Given the description of an element on the screen output the (x, y) to click on. 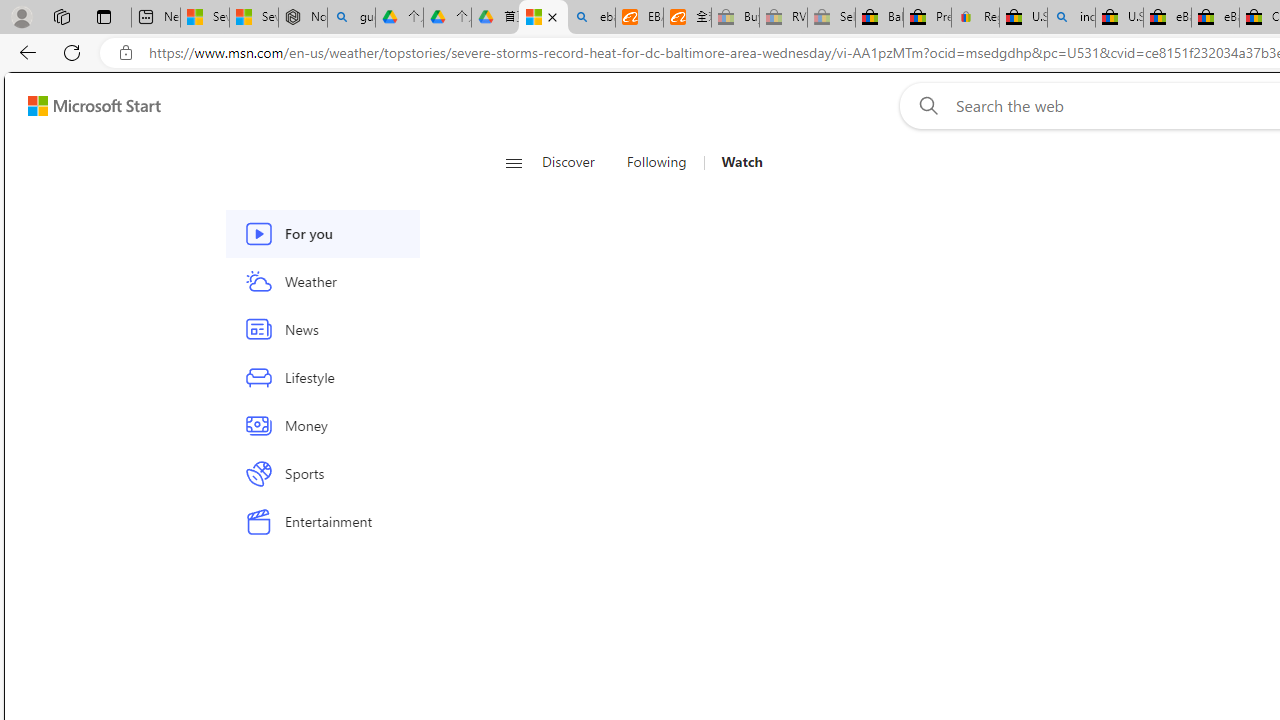
guge yunpan - Search (351, 17)
eBay Inc. Reports Third Quarter 2023 Results (1215, 17)
Baby Keepsakes & Announcements for sale | eBay (879, 17)
